Given the description of an element on the screen output the (x, y) to click on. 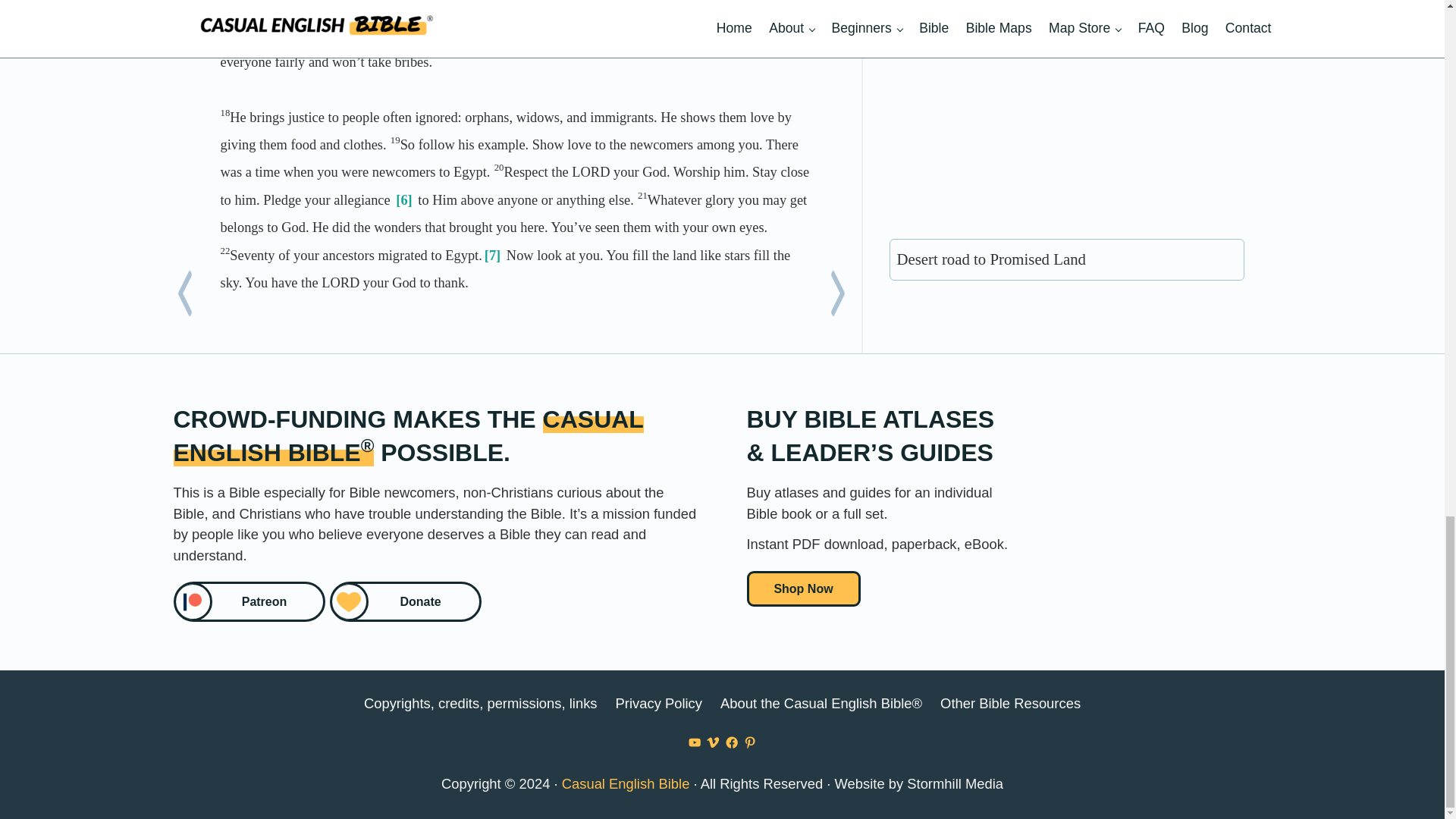
note not found (492, 255)
Map: Desert road to Promised Land (1066, 112)
